Given the description of an element on the screen output the (x, y) to click on. 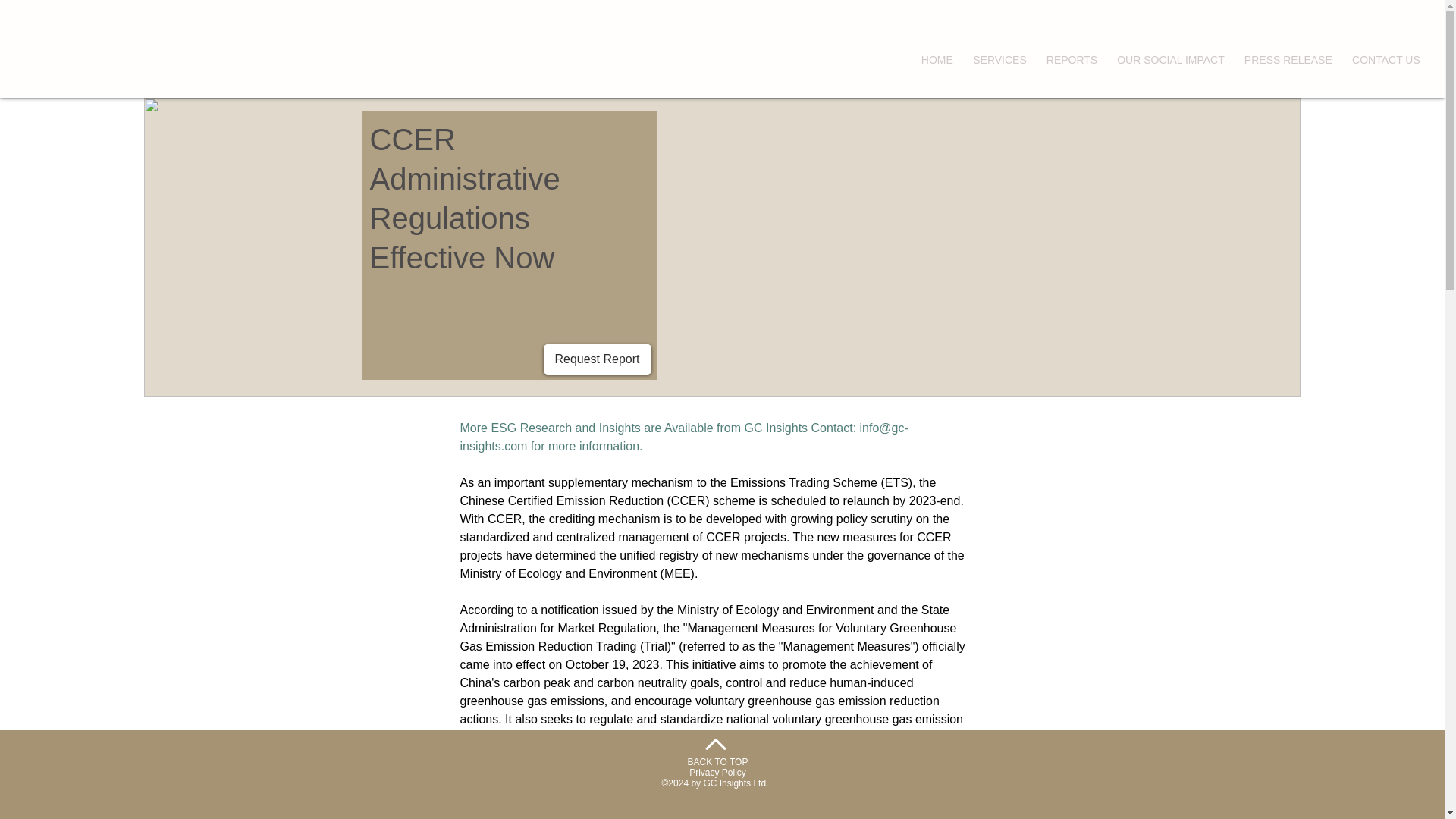
BACK TO TOP (717, 761)
HOME (936, 53)
SERVICES (999, 53)
REPORTS (1071, 53)
OUR SOCIAL IMPACT (1170, 53)
Request Report (596, 358)
Privacy Policy (716, 772)
CONTACT US (1385, 53)
PRESS RELEASE (1288, 53)
